Given the description of an element on the screen output the (x, y) to click on. 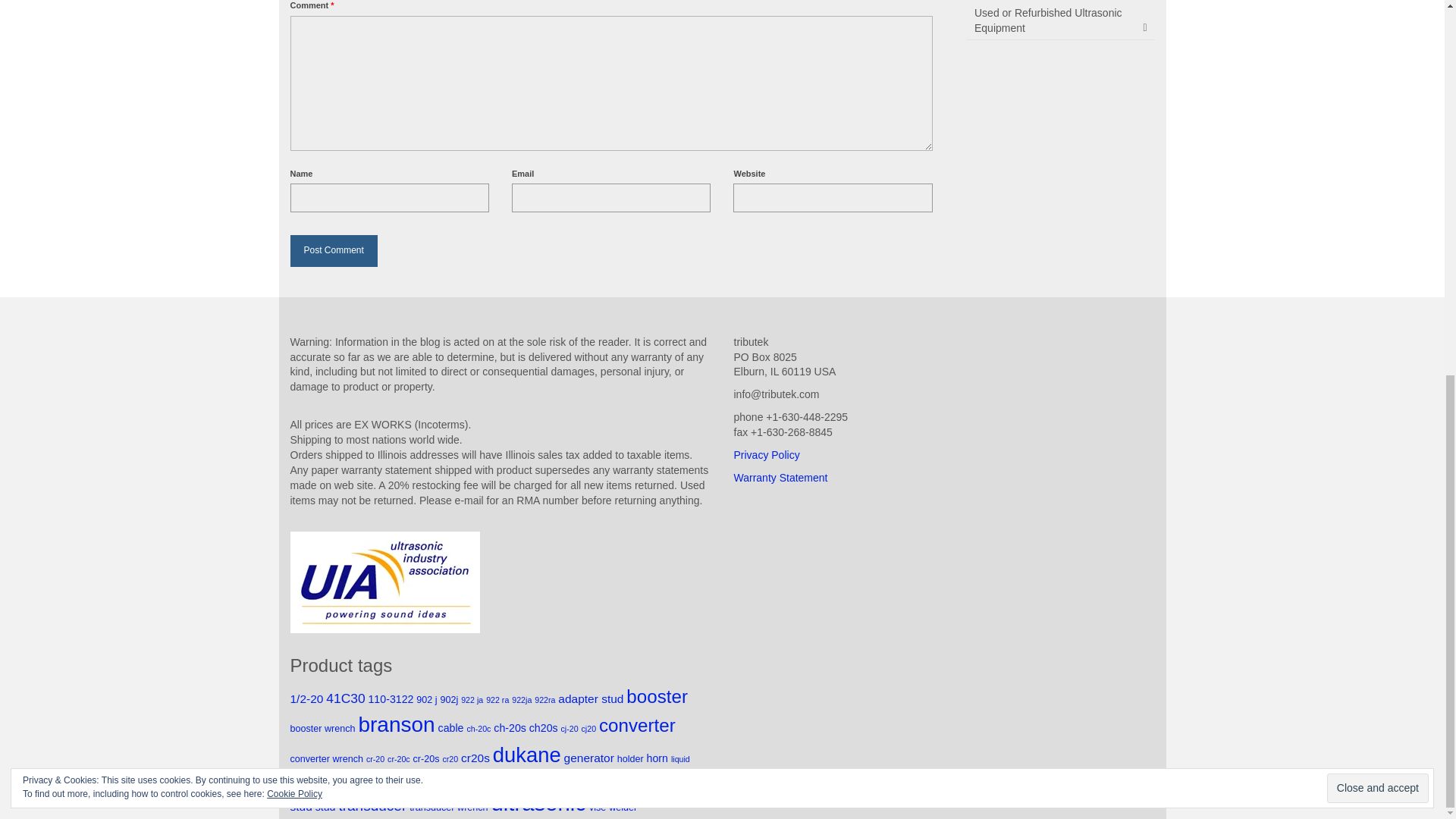
Post Comment (333, 250)
Post Comment (333, 250)
Close and accept (1377, 97)
